Given the description of an element on the screen output the (x, y) to click on. 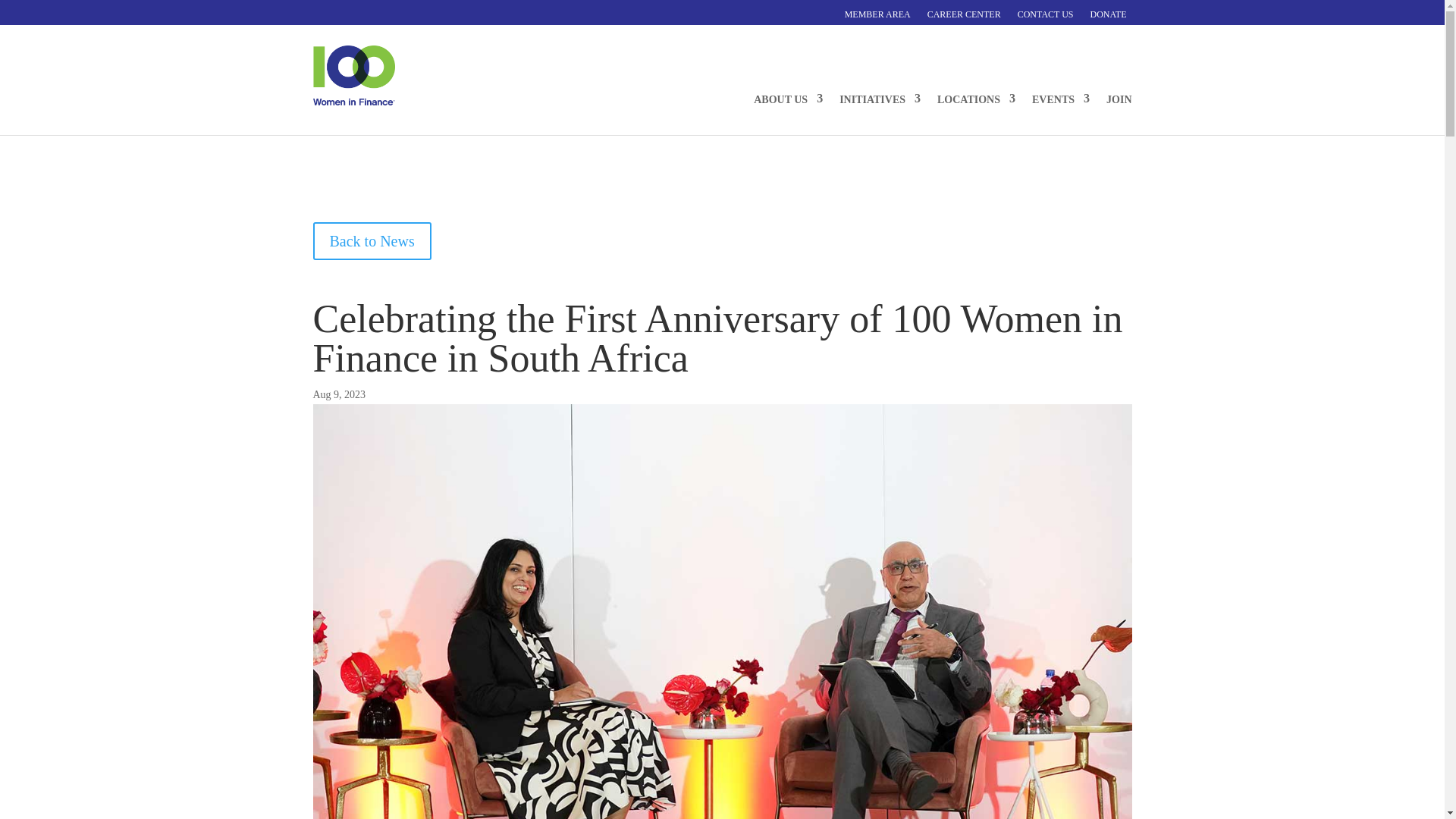
LOCATIONS (975, 88)
INITIATIVES (880, 88)
CAREER CENTER (964, 14)
MEMBER AREA (877, 14)
CONTACT US (1045, 14)
DONATE (1108, 14)
ABOUT US (788, 88)
